Given the description of an element on the screen output the (x, y) to click on. 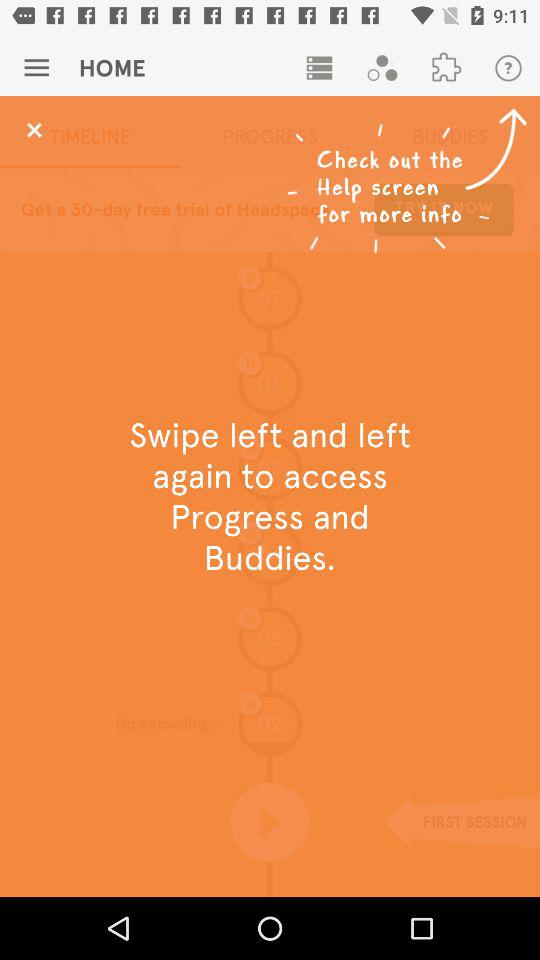
go back button option (33, 129)
